Given the description of an element on the screen output the (x, y) to click on. 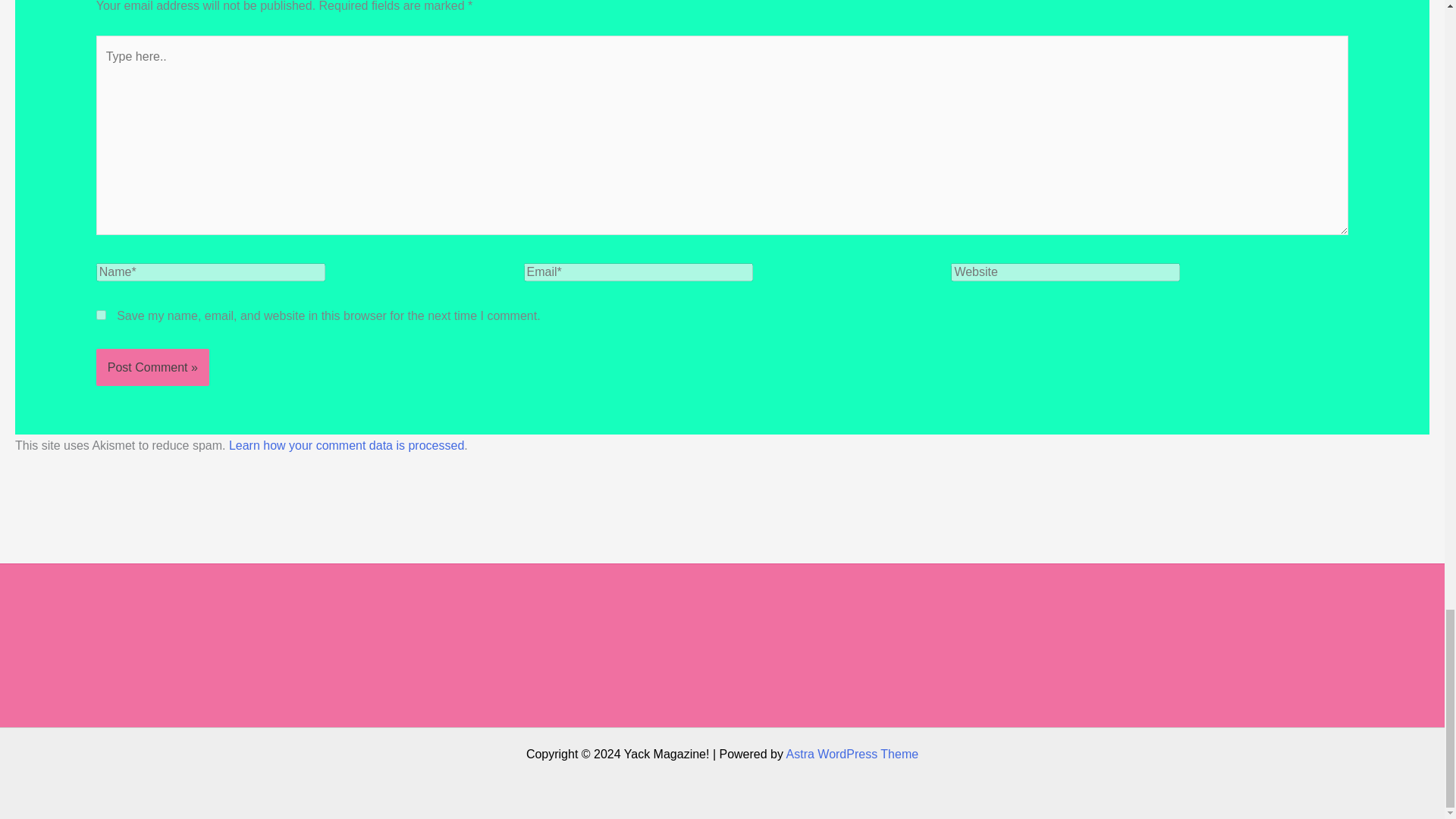
Learn how your comment data is processed (346, 445)
Astra WordPress Theme (852, 753)
yes (101, 315)
